Given the description of an element on the screen output the (x, y) to click on. 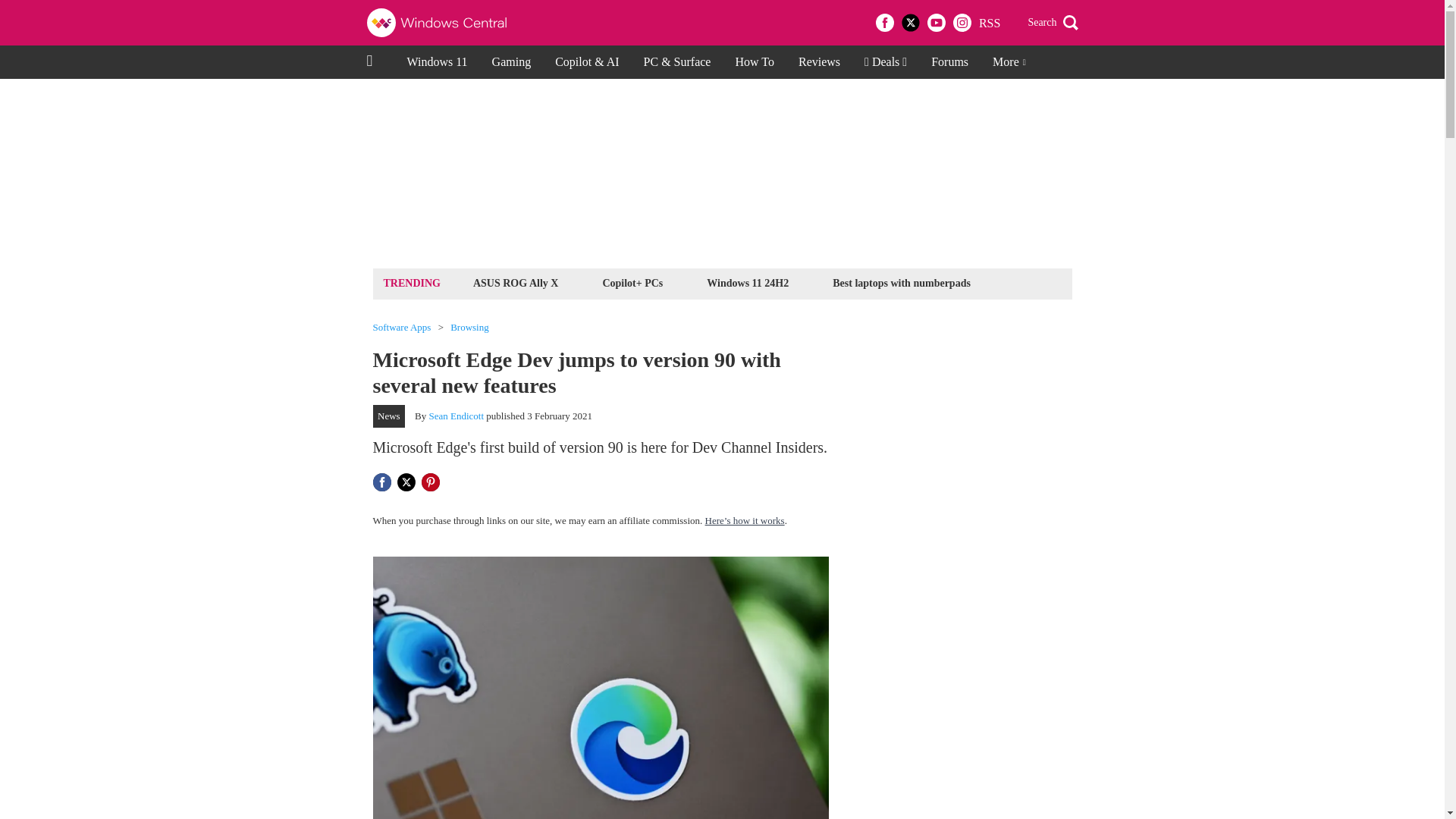
Windows 11 24H2 (747, 282)
News (389, 415)
How To (754, 61)
Forums (948, 61)
Reviews (818, 61)
Software Apps (401, 327)
Best laptops with numberpads (901, 282)
Gaming (511, 61)
Windows 11 (436, 61)
RSS (989, 22)
